Given the description of an element on the screen output the (x, y) to click on. 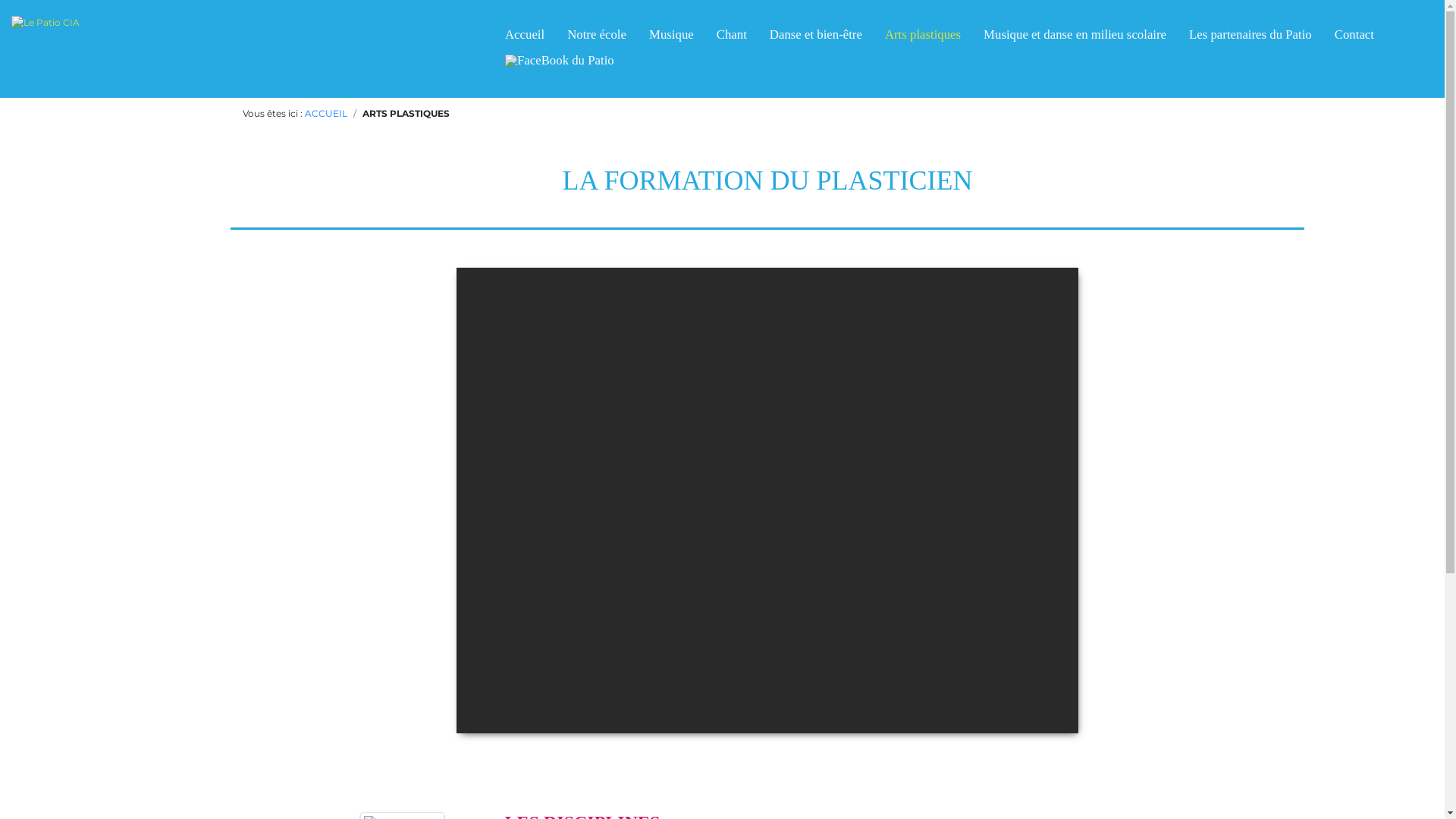
Les partenaires du Patio
  Element type: text (1250, 41)
Accueil
  Element type: text (524, 41)
Contact
  Element type: text (1354, 41)
Le Patio Centre d'Initiation aux Arts du Pays de Morlaix Element type: hover (559, 65)
  Element type: text (559, 65)
Musique et danse en milieu scolaire
  Element type: text (1074, 41)
Arts plastiques
  Element type: text (922, 41)
ACCUEIL Element type: text (325, 113)
Chant
  Element type: text (731, 41)
Musique
  Element type: text (671, 41)
